Given the description of an element on the screen output the (x, y) to click on. 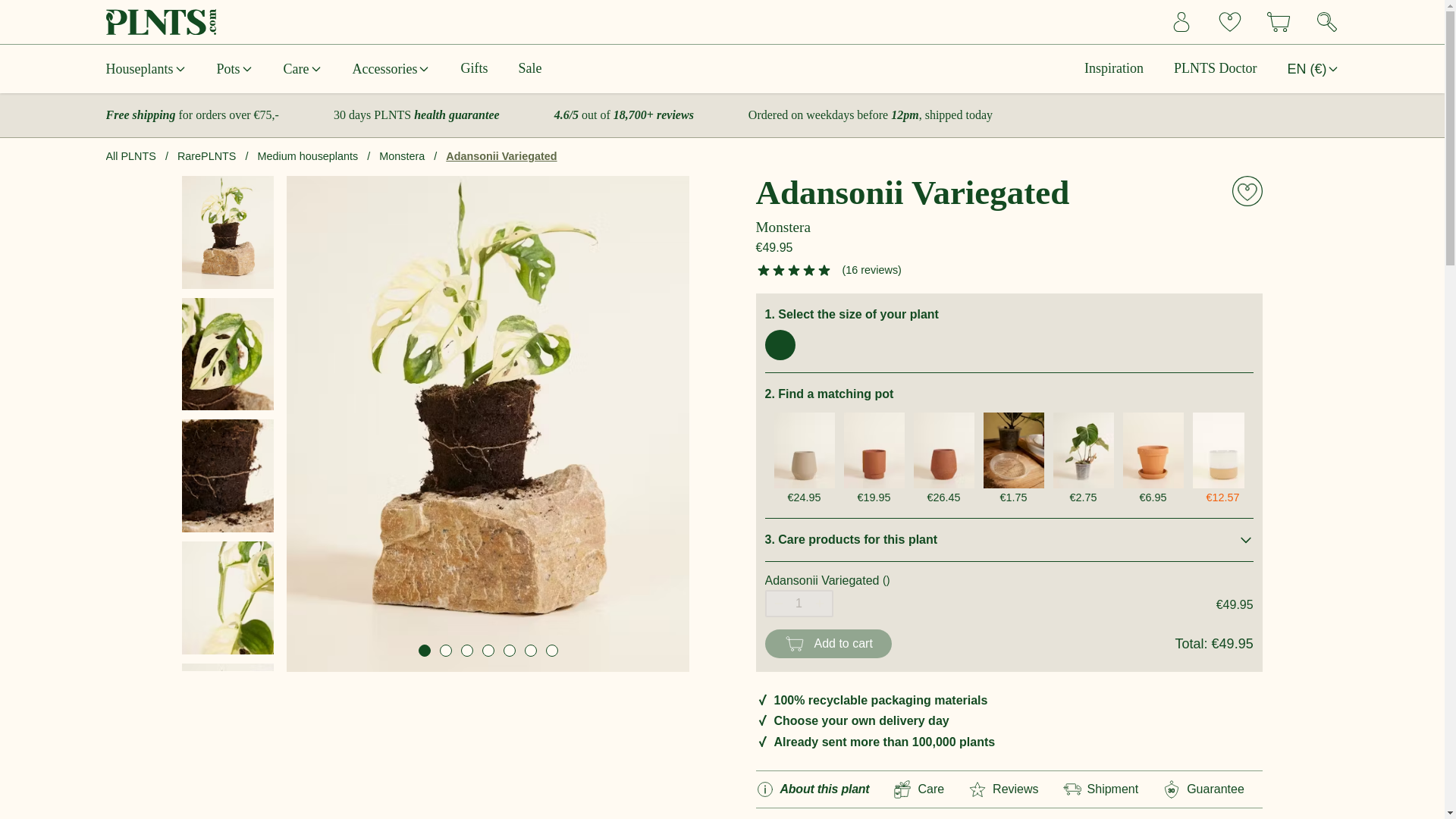
5 (509, 650)
Pots (234, 69)
4 (488, 650)
Sale (529, 68)
All PLNTS (130, 155)
Houseplants (146, 69)
Care (302, 69)
6 (530, 650)
Gifts (473, 68)
2 (445, 650)
Inspiration (1113, 68)
30 days PLNTS health guarantee (416, 114)
RarePLNTS (206, 155)
Medium houseplants (307, 155)
